Given the description of an element on the screen output the (x, y) to click on. 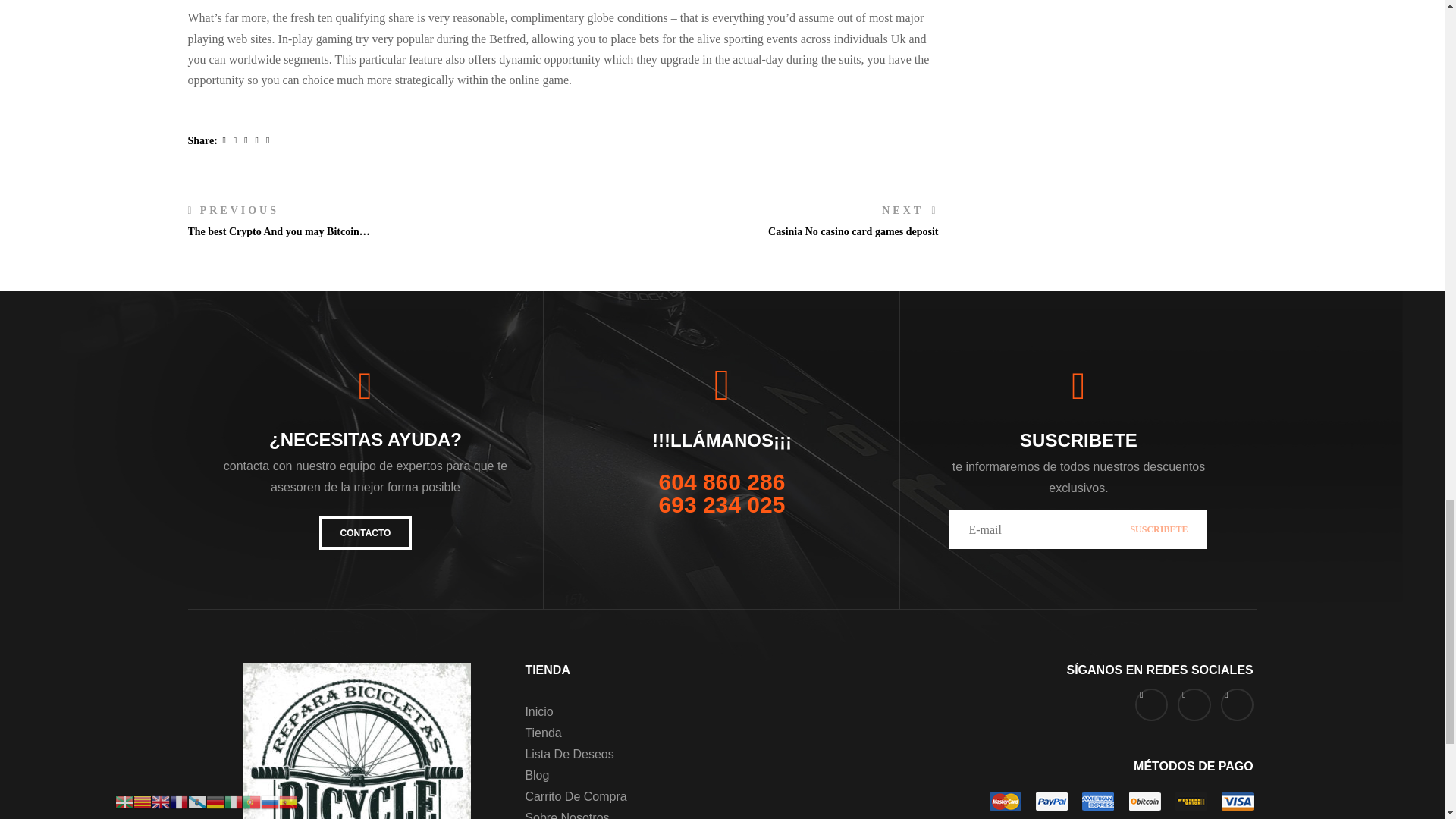
Twitter (236, 139)
Suscribete (1158, 528)
Share on Twitter (236, 139)
Linkedin (246, 139)
Share on LinkedIn (246, 139)
Share on Google plus (258, 139)
Share on facebook (224, 139)
Facebook (224, 139)
